Given the description of an element on the screen output the (x, y) to click on. 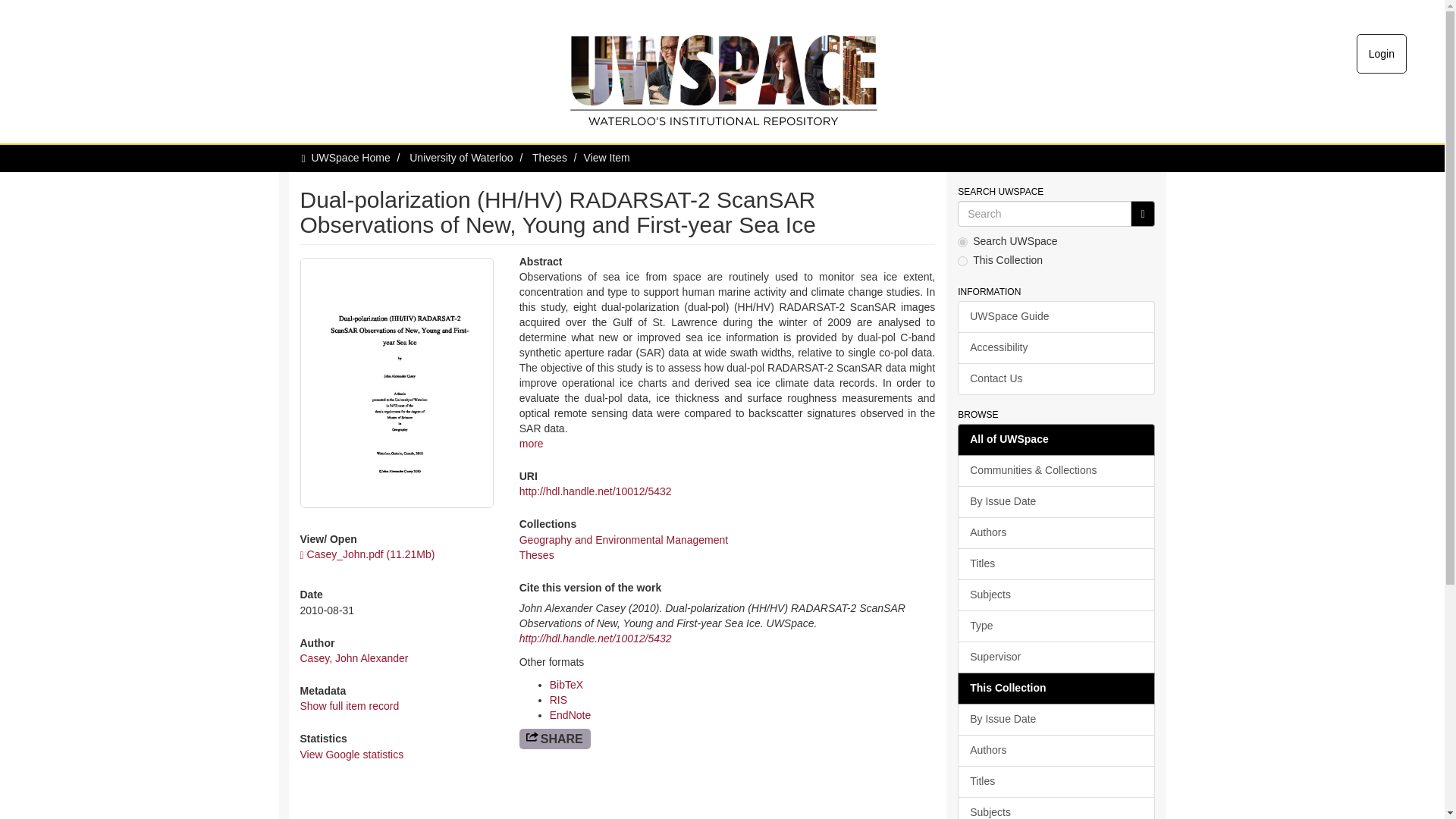
Geography and Environmental Management (624, 539)
Theses (536, 554)
UWSpace Home (350, 157)
EndNote (570, 715)
UWSpace Guide (1056, 316)
Theses (549, 157)
University of Waterloo (460, 157)
more (531, 443)
Login (1381, 53)
untranslated (1142, 213)
Search UWSpace (1044, 213)
Accessibility (1056, 347)
Casey, John Alexander (354, 657)
Contact Us (1056, 378)
View Google statistics (351, 754)
